Given the description of an element on the screen output the (x, y) to click on. 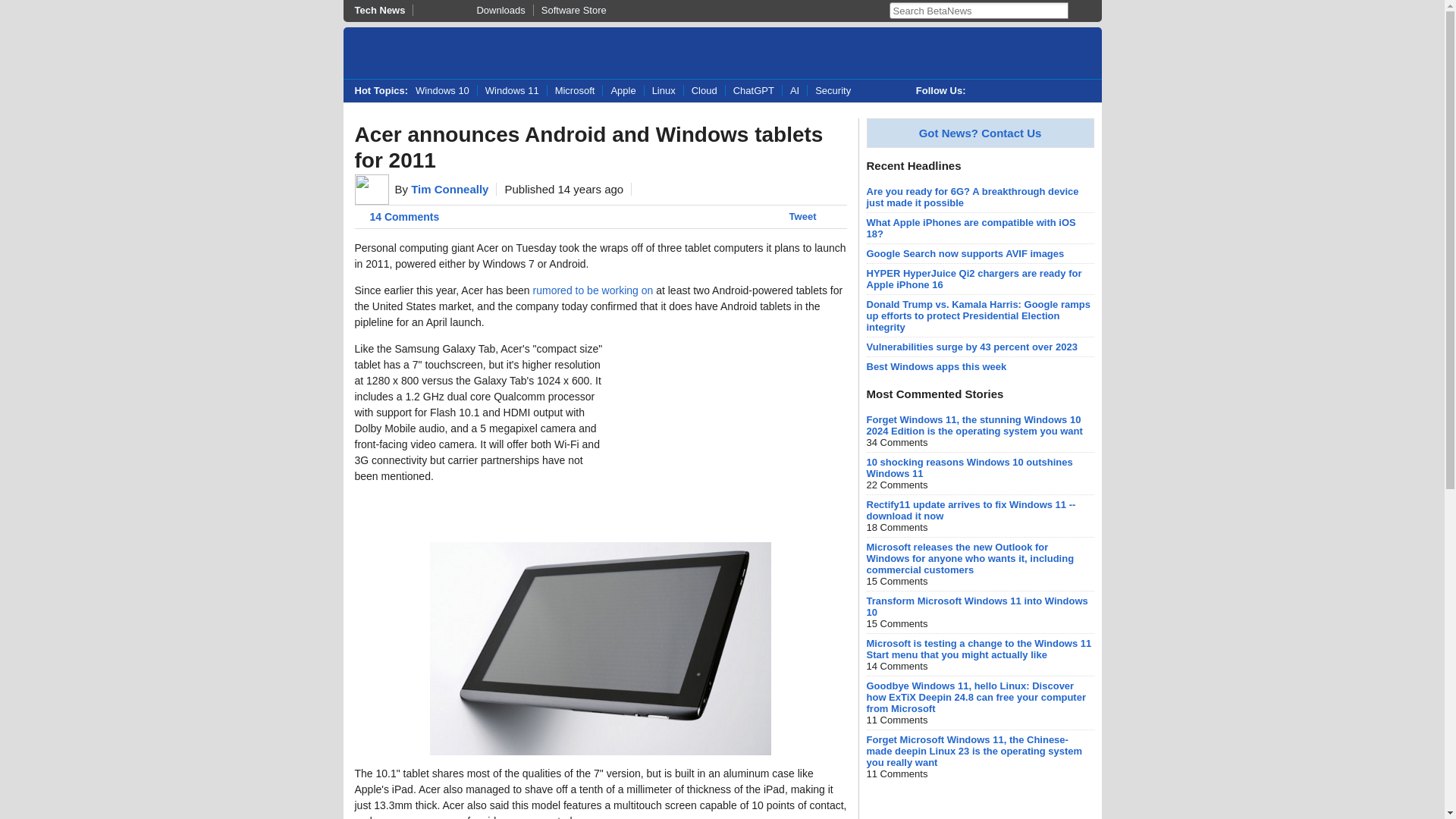
HYPER HyperJuice Qi2 chargers are ready for Apple iPhone 16 (973, 278)
Vulnerabilities surge by 43 percent over 2023 (971, 346)
Software Store (573, 9)
Windows 10 (445, 90)
Downloads (472, 9)
Security (832, 90)
AI (793, 90)
10 shocking reasons Windows 10 outshines Windows 11 (968, 467)
Windows 11 (512, 90)
